Given the description of an element on the screen output the (x, y) to click on. 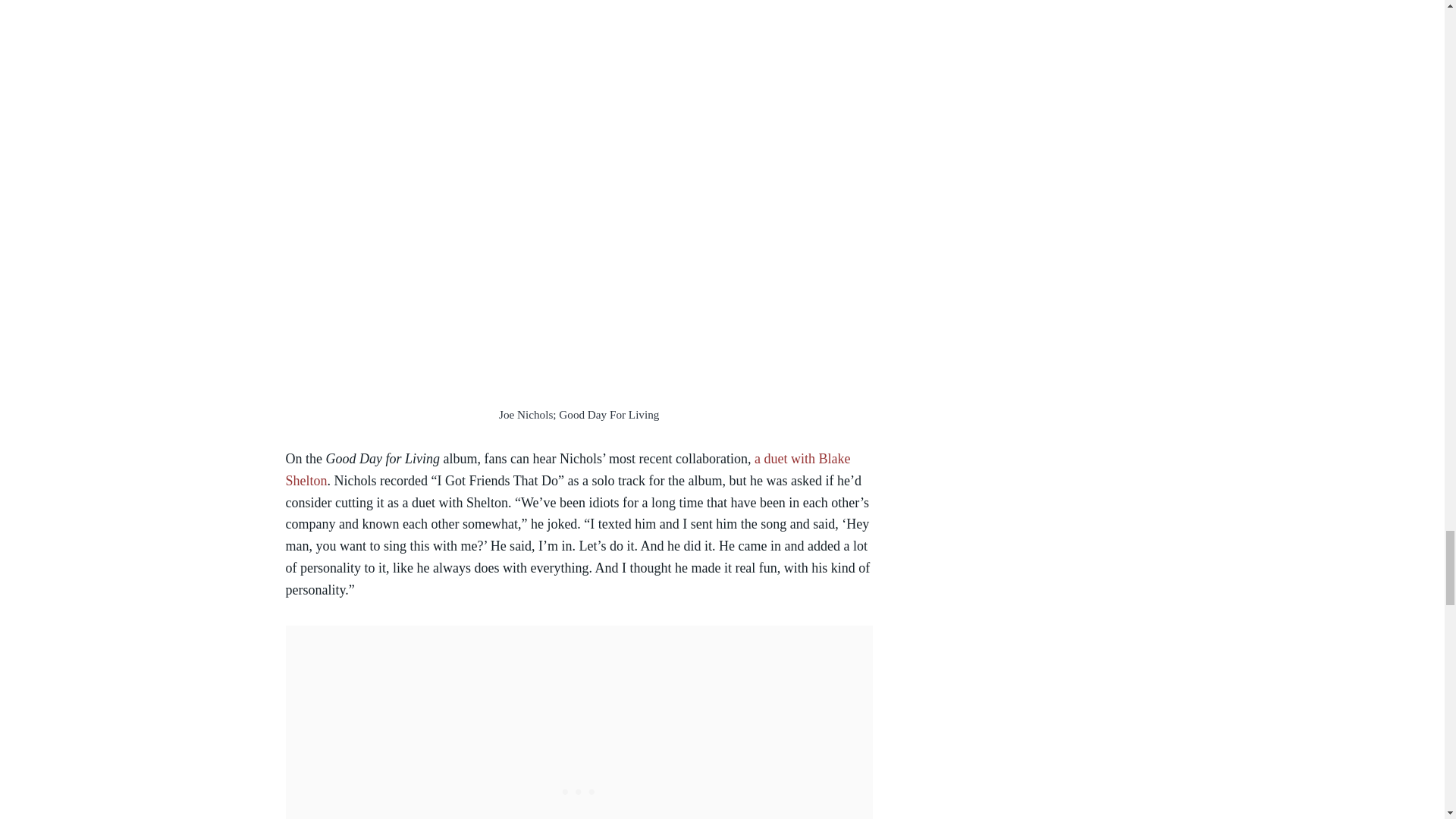
a duet with Blake Shelton (567, 469)
